Given the description of an element on the screen output the (x, y) to click on. 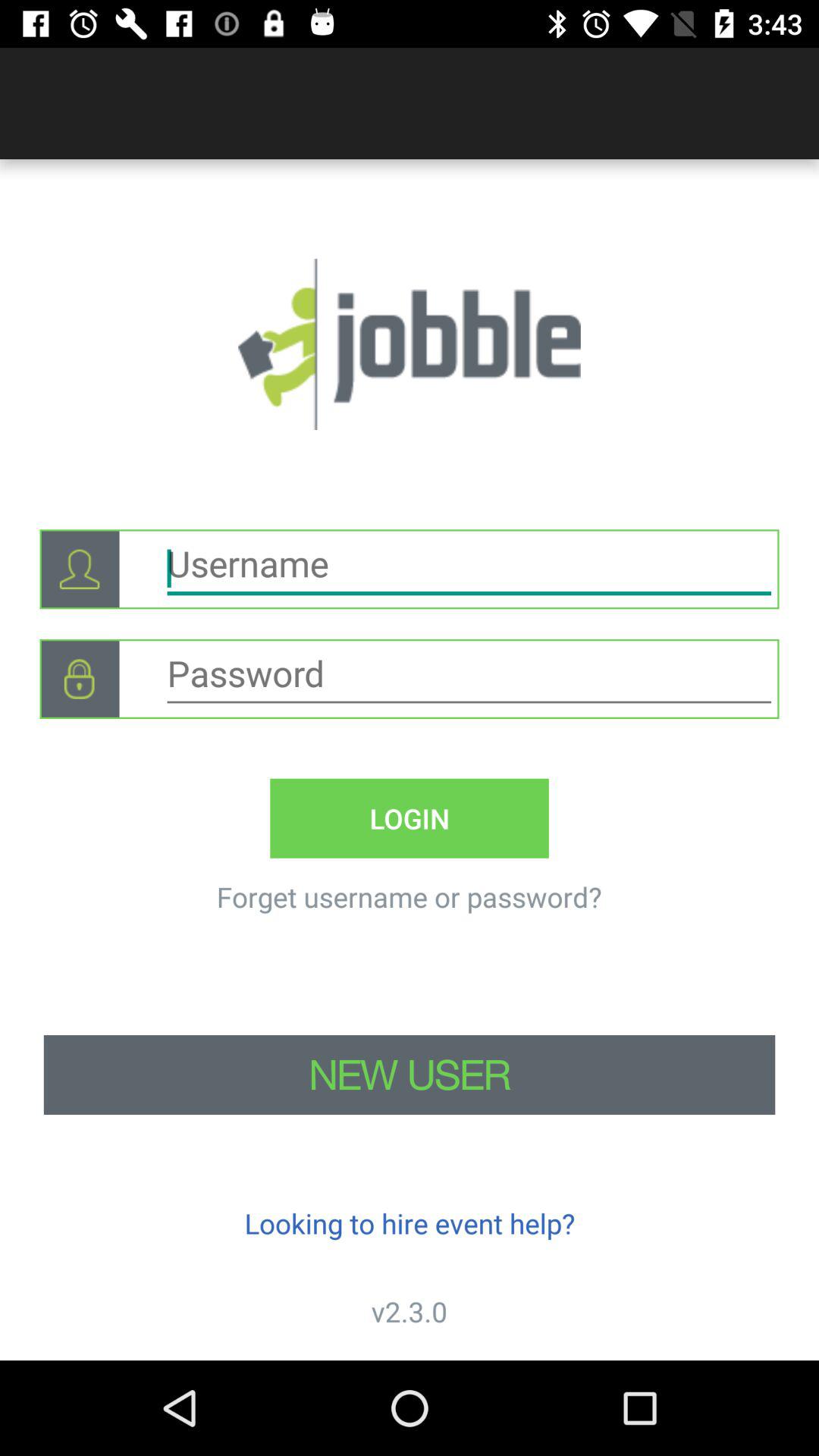
turn on the icon below new user icon (409, 1223)
